Given the description of an element on the screen output the (x, y) to click on. 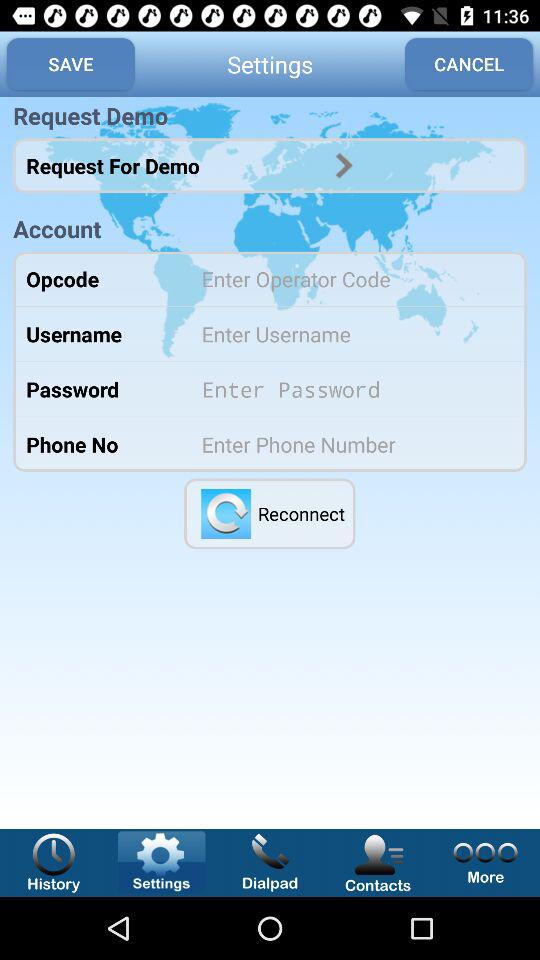
turn off cancel at the top right corner (469, 64)
